Given the description of an element on the screen output the (x, y) to click on. 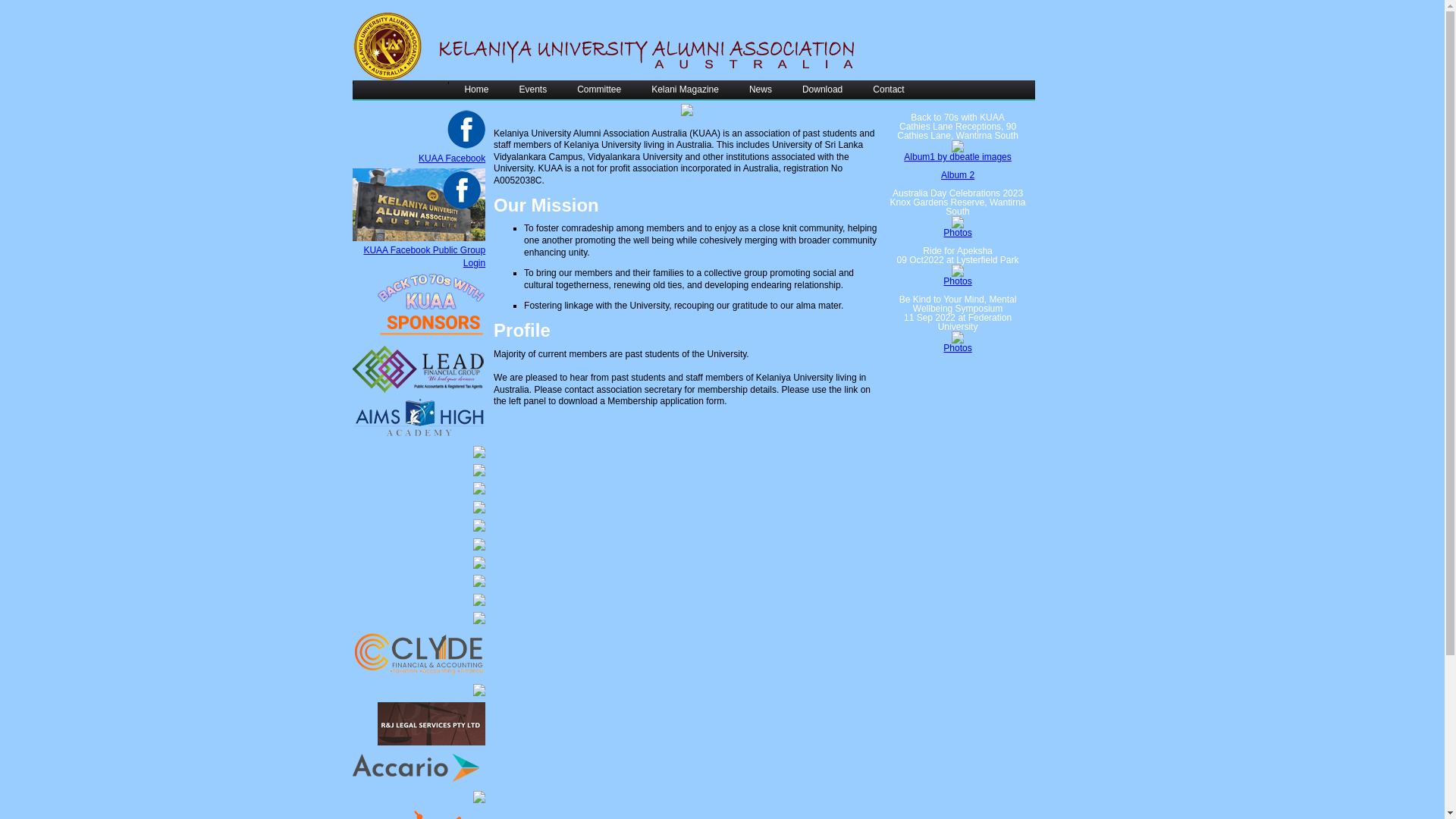
Contact Element type: text (888, 89)
Photos Element type: text (957, 232)
KUAA Facebook Element type: text (451, 158)
Login Element type: text (474, 262)
Events Element type: text (532, 89)
KUAA Facebook Public Group Element type: text (424, 249)
Kelani Magazine Element type: text (685, 89)
Home Element type: text (475, 89)
Photos Element type: text (957, 281)
Album 2 Element type: text (957, 174)
News Element type: text (760, 89)
Album1 by dbeatle images Element type: text (956, 156)
Download Element type: text (822, 89)
Photos Element type: text (957, 347)
Committee Element type: text (598, 89)
